Given the description of an element on the screen output the (x, y) to click on. 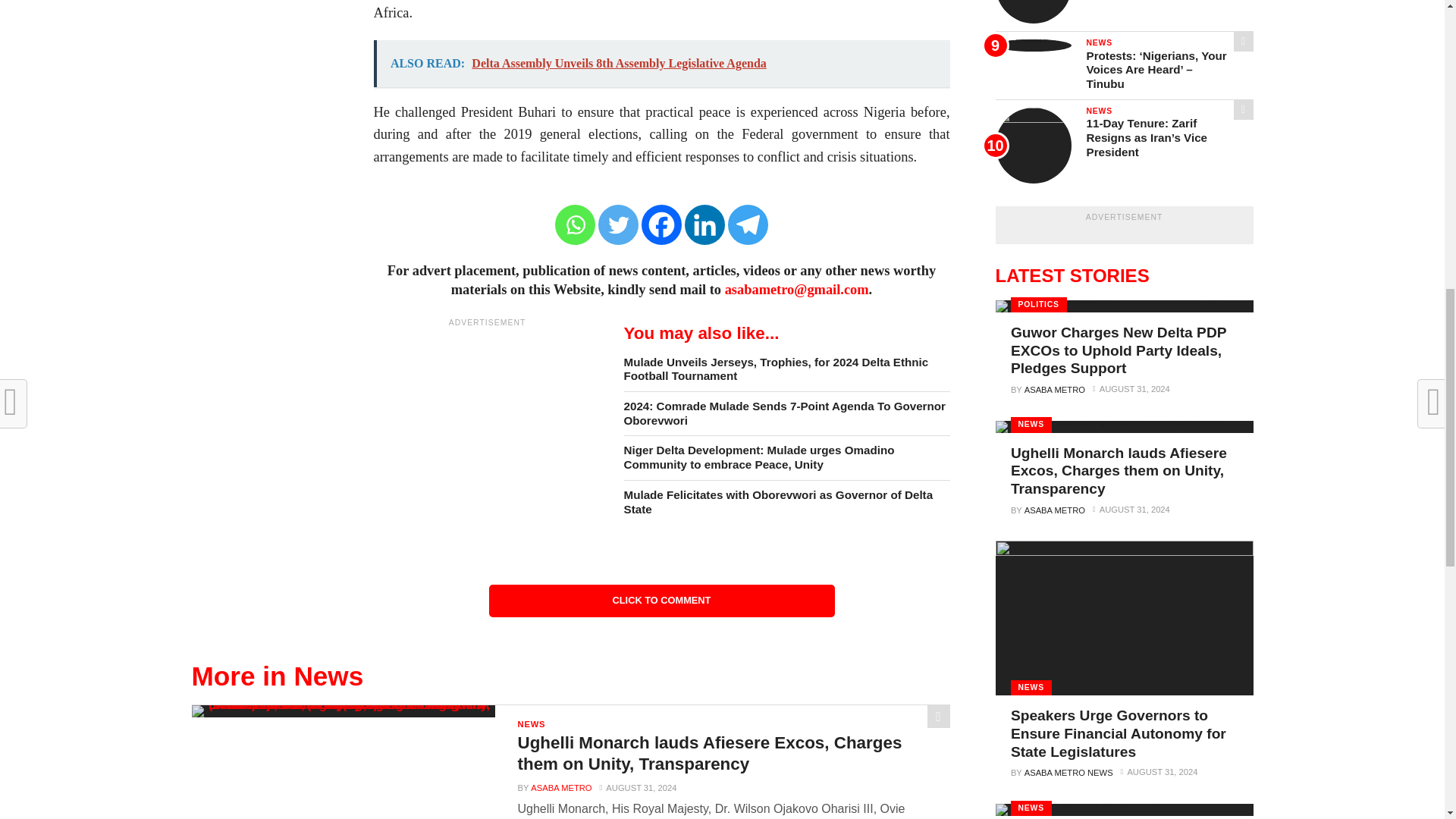
Whatsapp (574, 224)
Facebook (661, 224)
Twitter (618, 224)
